Given the description of an element on the screen output the (x, y) to click on. 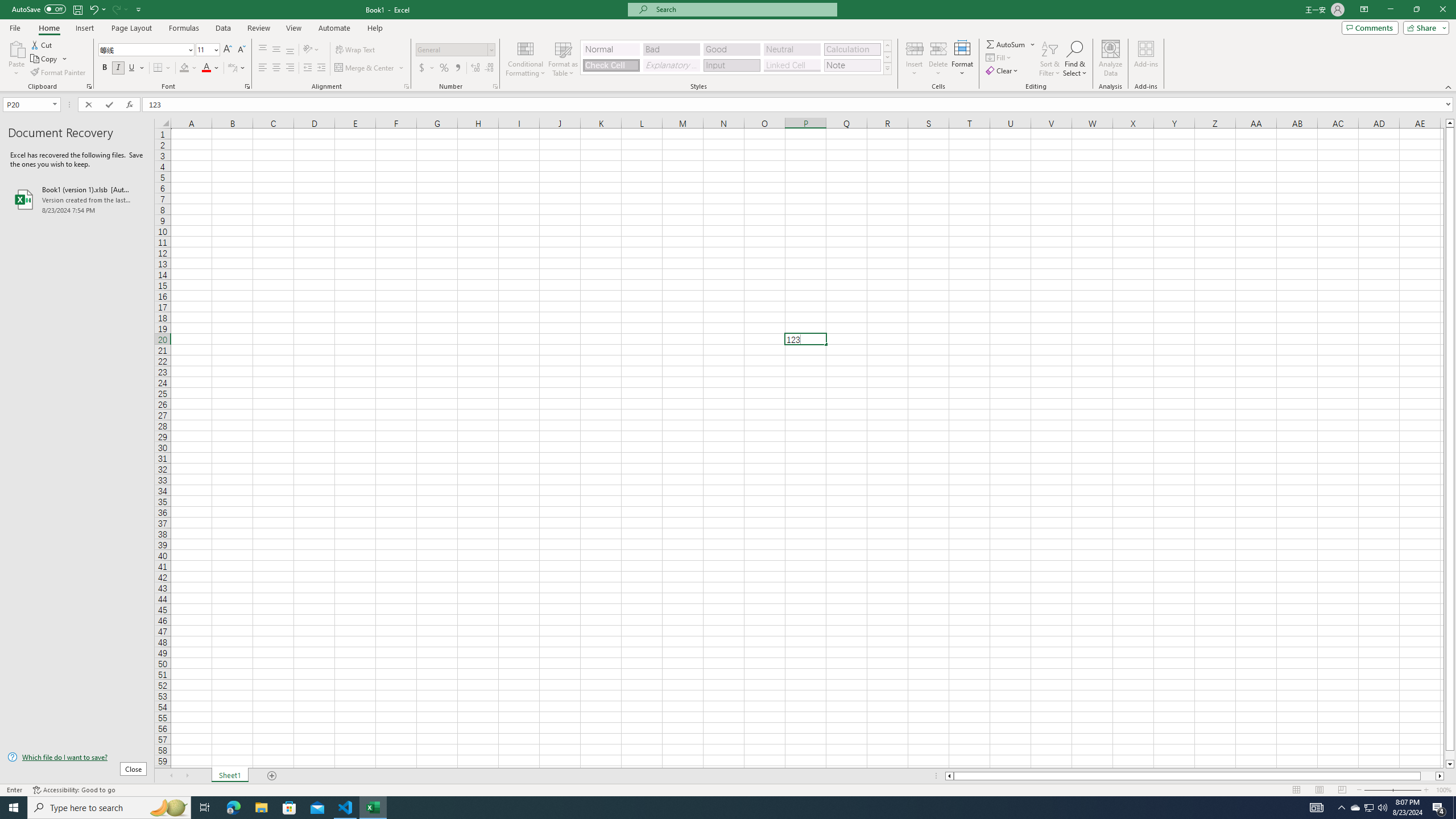
Sort & Filter (1049, 58)
Bottom Border (157, 67)
Format Cell Alignment (405, 85)
Bad (671, 49)
Copy (49, 58)
Format Painter (58, 72)
Cut (42, 44)
